Given the description of an element on the screen output the (x, y) to click on. 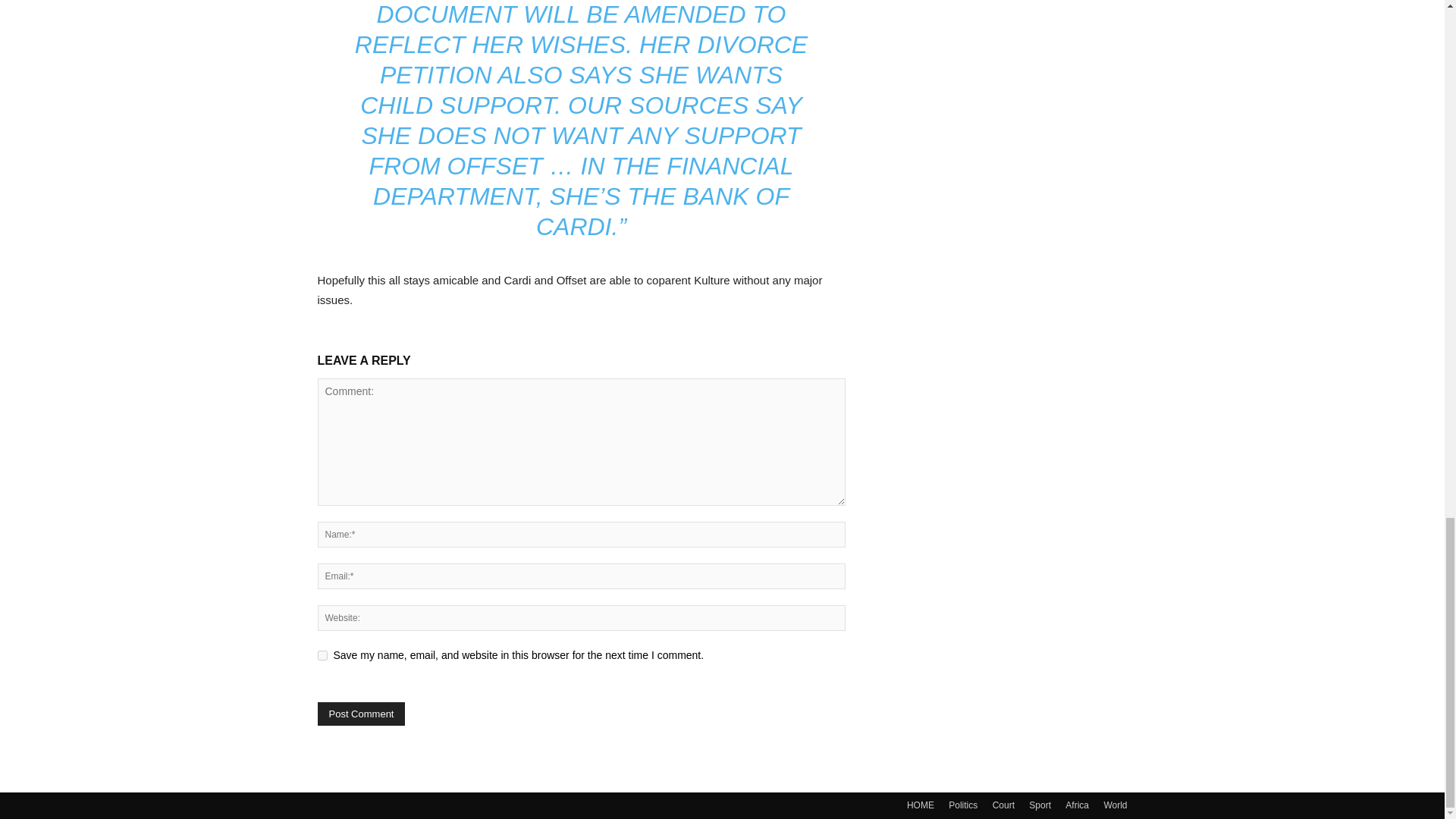
yes (321, 655)
Post Comment (360, 713)
